Given the description of an element on the screen output the (x, y) to click on. 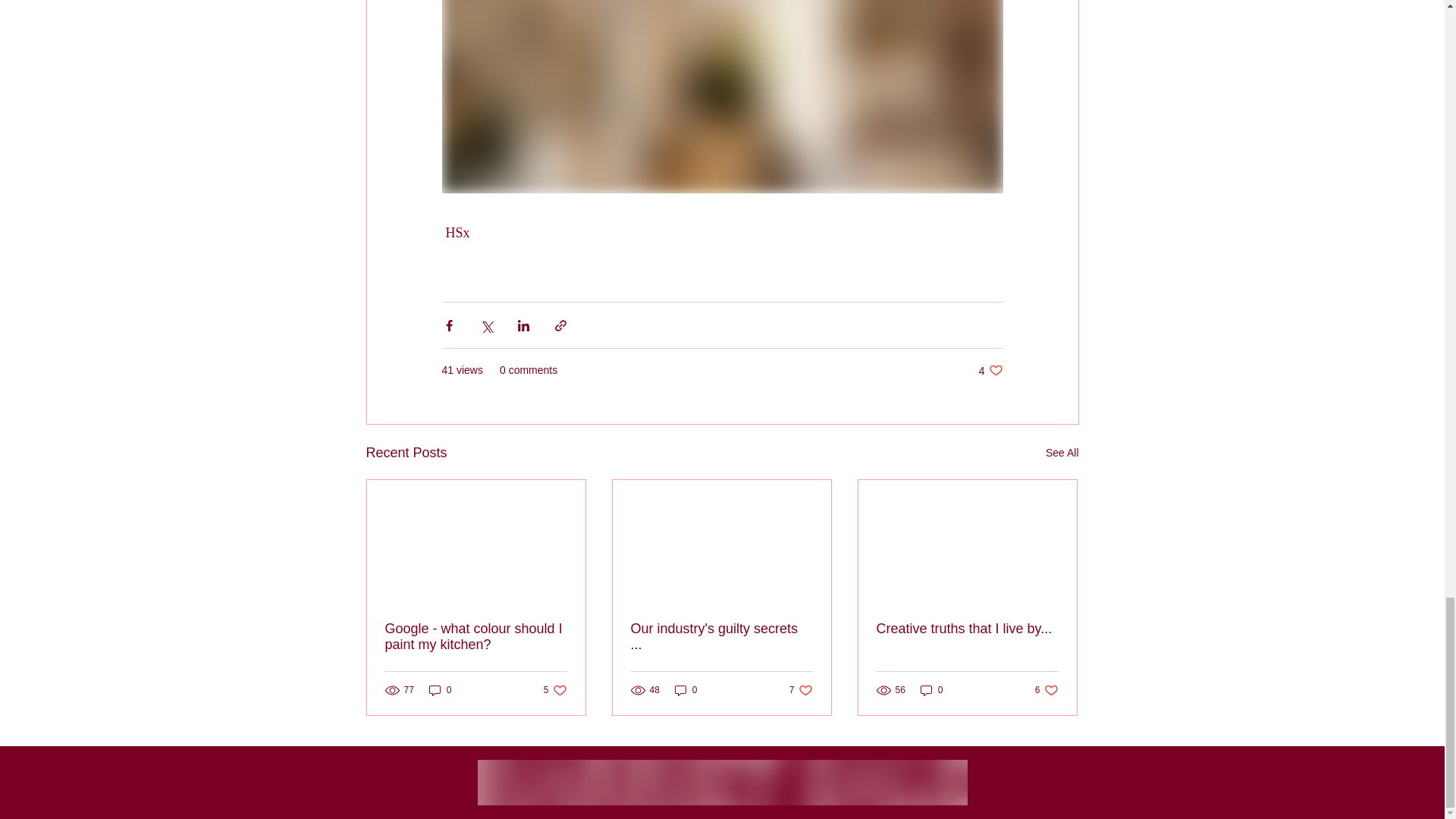
Creative truths that I live by... (967, 628)
Our industry's guilty secrets ... (555, 690)
Google - what colour should I paint my kitchen? (721, 636)
0 (800, 690)
0 (476, 636)
See All (931, 690)
0 (990, 370)
